Given the description of an element on the screen output the (x, y) to click on. 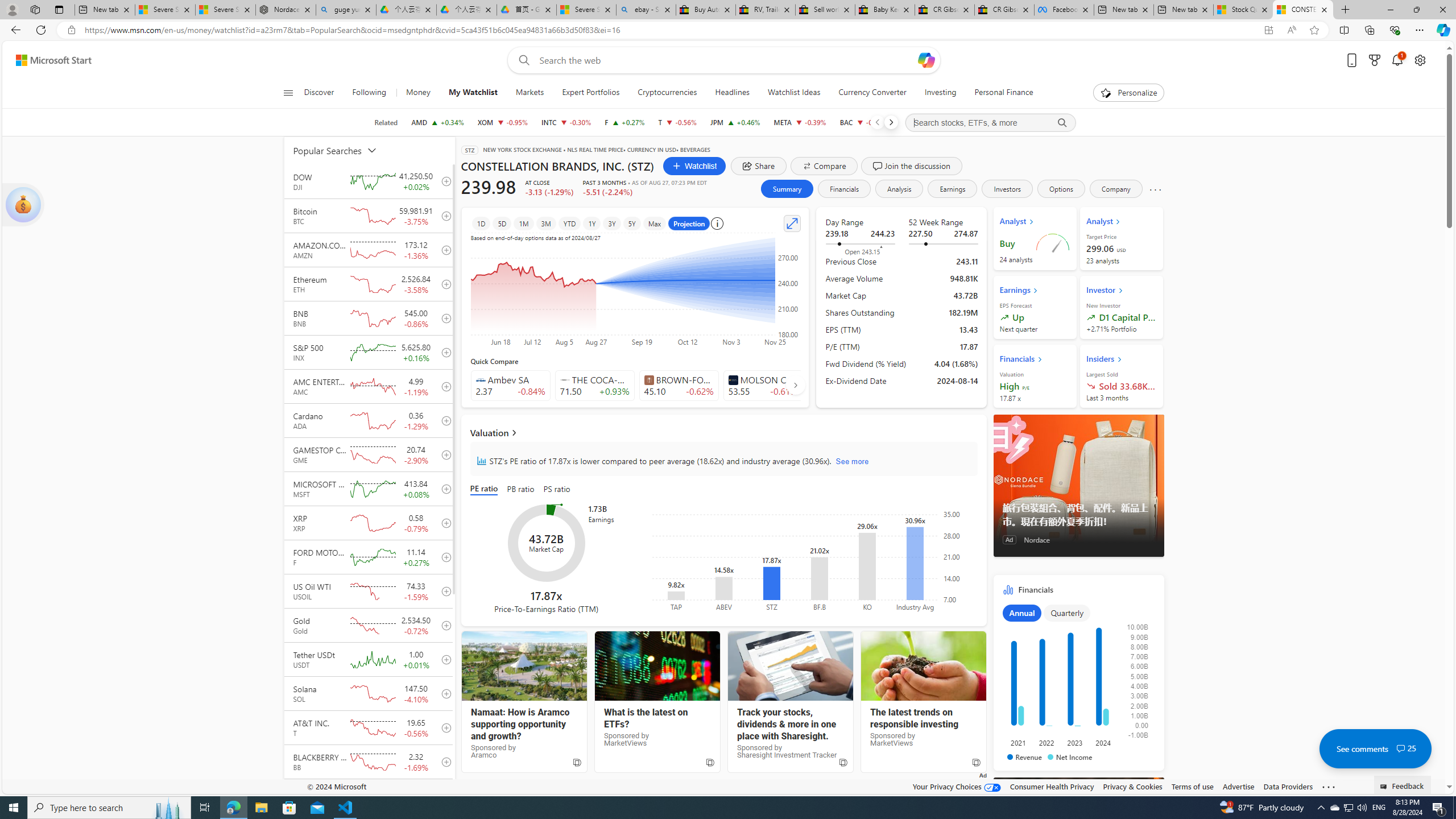
Compare (823, 166)
Popular Searches (341, 150)
AutomationID: finance_carousel_navi_right (794, 384)
Options (1060, 188)
Data Providers (1288, 785)
Expert Portfolios (590, 92)
See comments 25 (1375, 748)
5Y (631, 223)
